Given the description of an element on the screen output the (x, y) to click on. 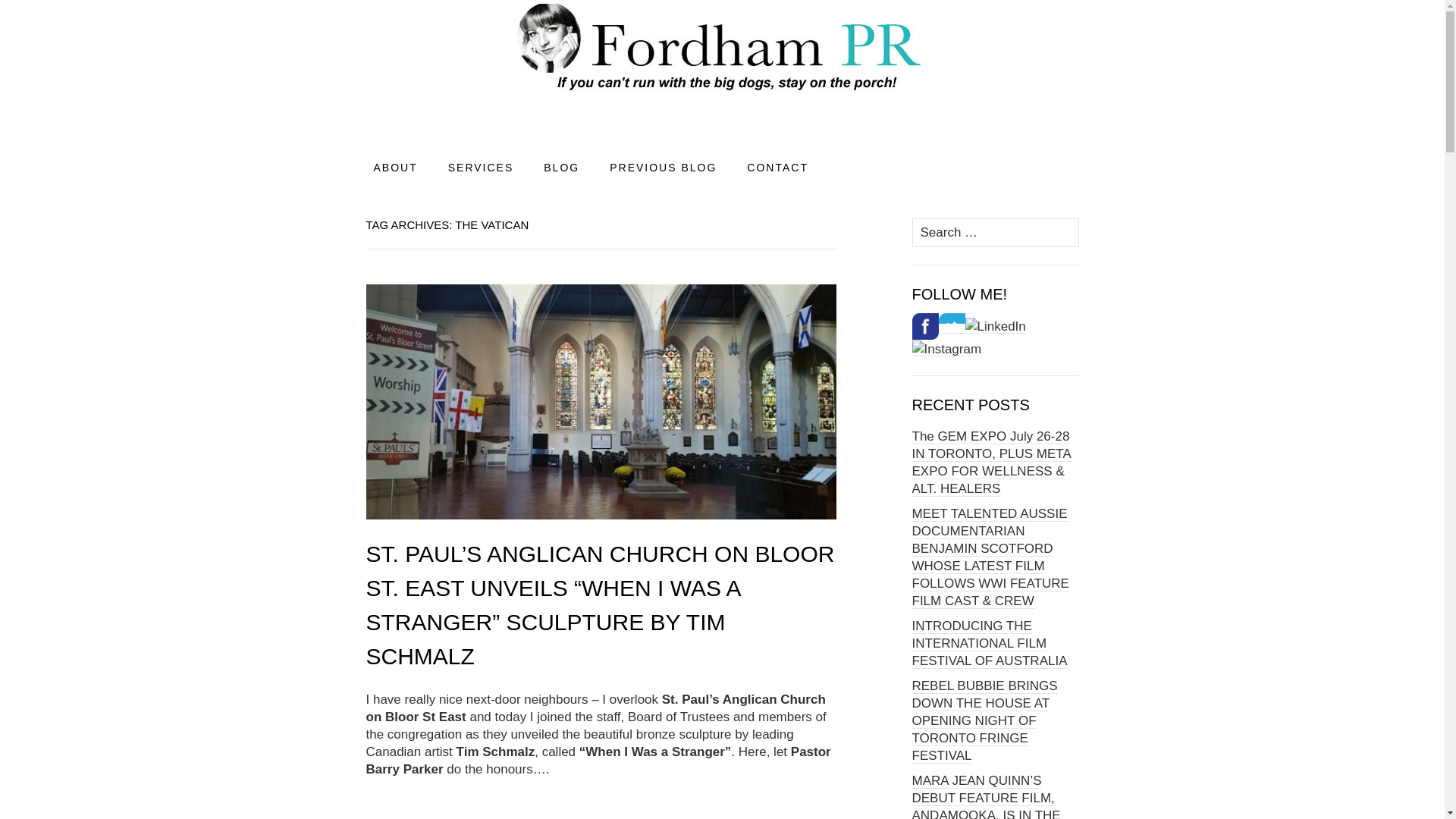
PREVIOUS BLOG (663, 167)
BLOG (561, 167)
Search (16, 14)
Facebook (924, 325)
SERVICES (480, 167)
Instagram (946, 348)
Twitter (952, 325)
CONTACT (778, 167)
LinkedIn (994, 325)
Fordham PR (722, 68)
ABOUT (395, 167)
